Given the description of an element on the screen output the (x, y) to click on. 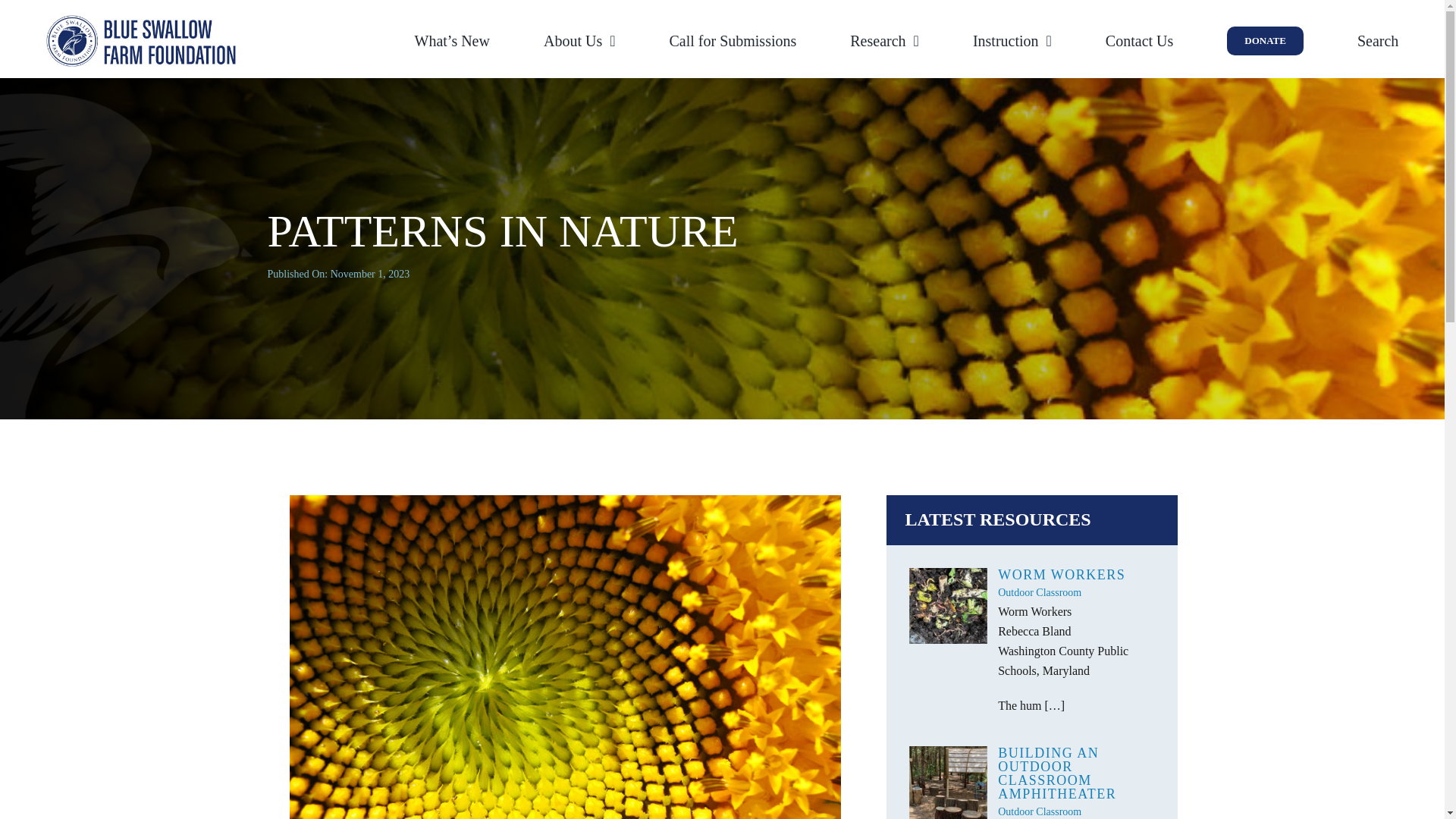
Search (1376, 40)
About Us (579, 40)
Search (1376, 40)
Call for Submissions (732, 40)
Contact Us (1139, 40)
Instruction (1011, 40)
DONATE (1265, 40)
Research (884, 40)
